Given the description of an element on the screen output the (x, y) to click on. 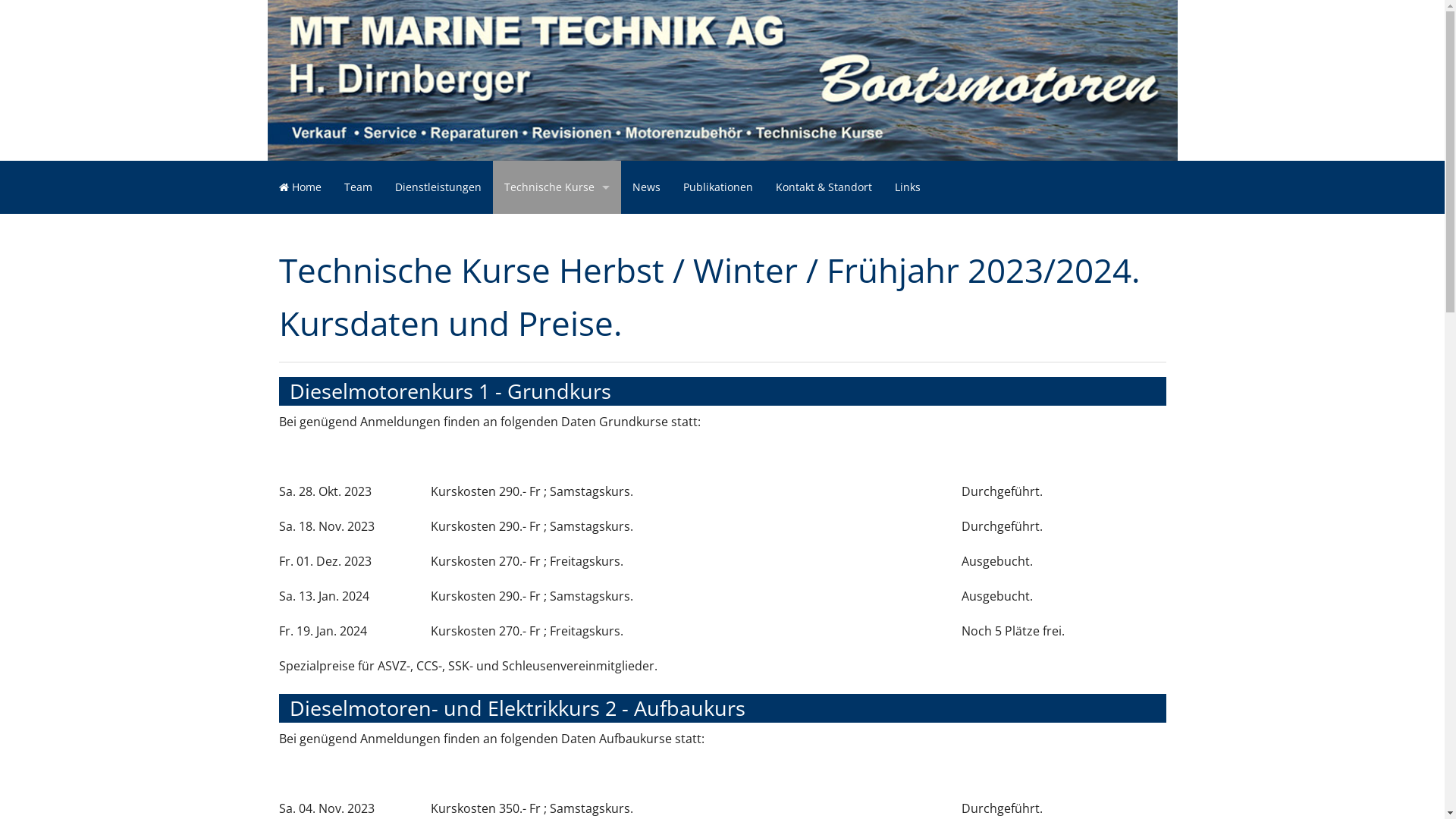
Dienstleistungen Element type: text (437, 186)
Kontakt & Standort Element type: text (823, 186)
Publikationen Element type: text (717, 186)
Team Element type: text (357, 186)
Kursdaten Element type: text (556, 230)
Home Element type: text (299, 186)
Kursanmeldung Element type: text (556, 264)
Technische Kurse Element type: text (556, 186)
News Element type: text (645, 186)
Links Element type: text (906, 186)
